Given the description of an element on the screen output the (x, y) to click on. 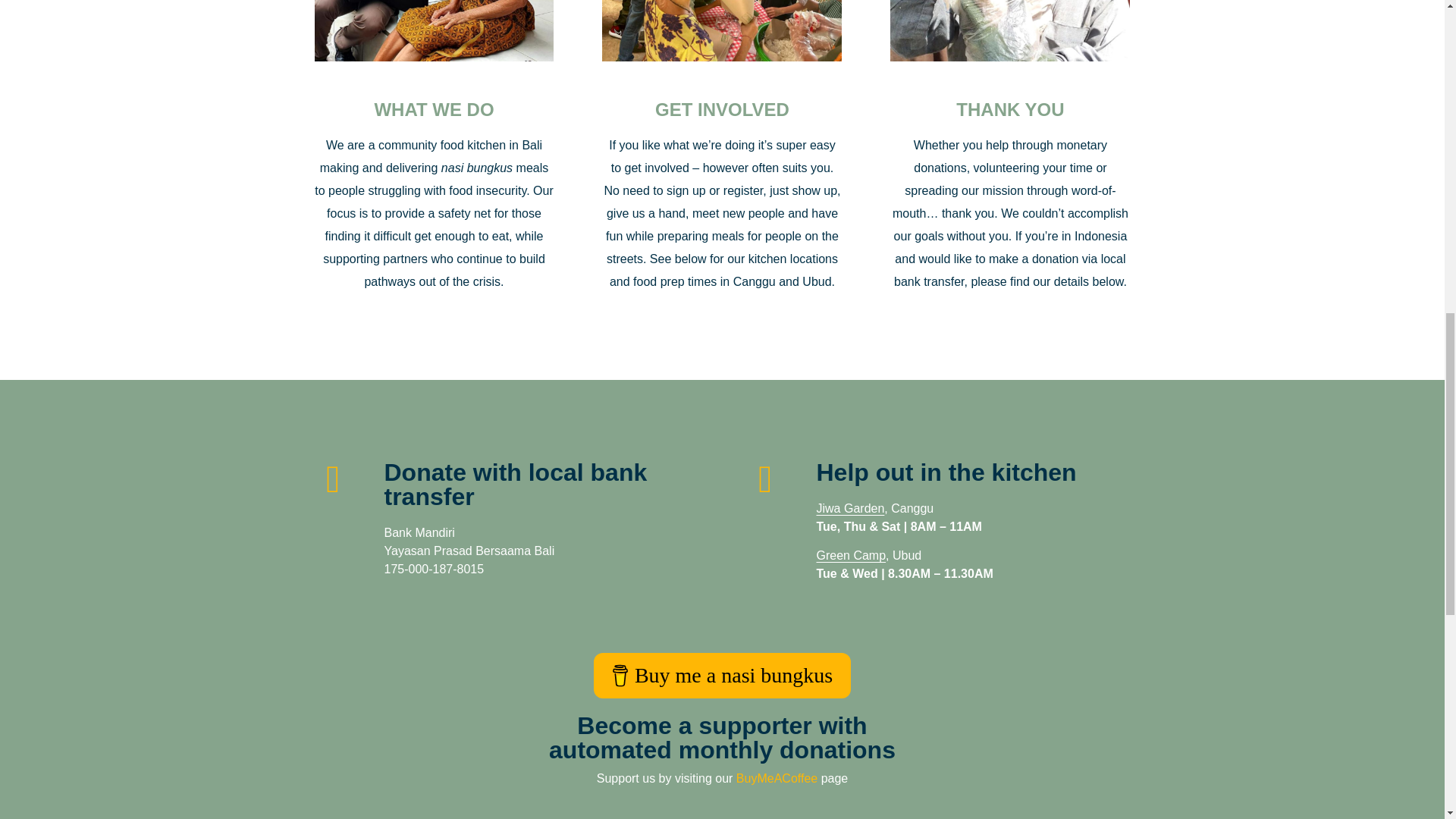
Jiwa Garden (721, 737)
Green Camp (849, 508)
Buy me a nasi bungkus (850, 554)
BuyMeACoffee (722, 675)
